Given the description of an element on the screen output the (x, y) to click on. 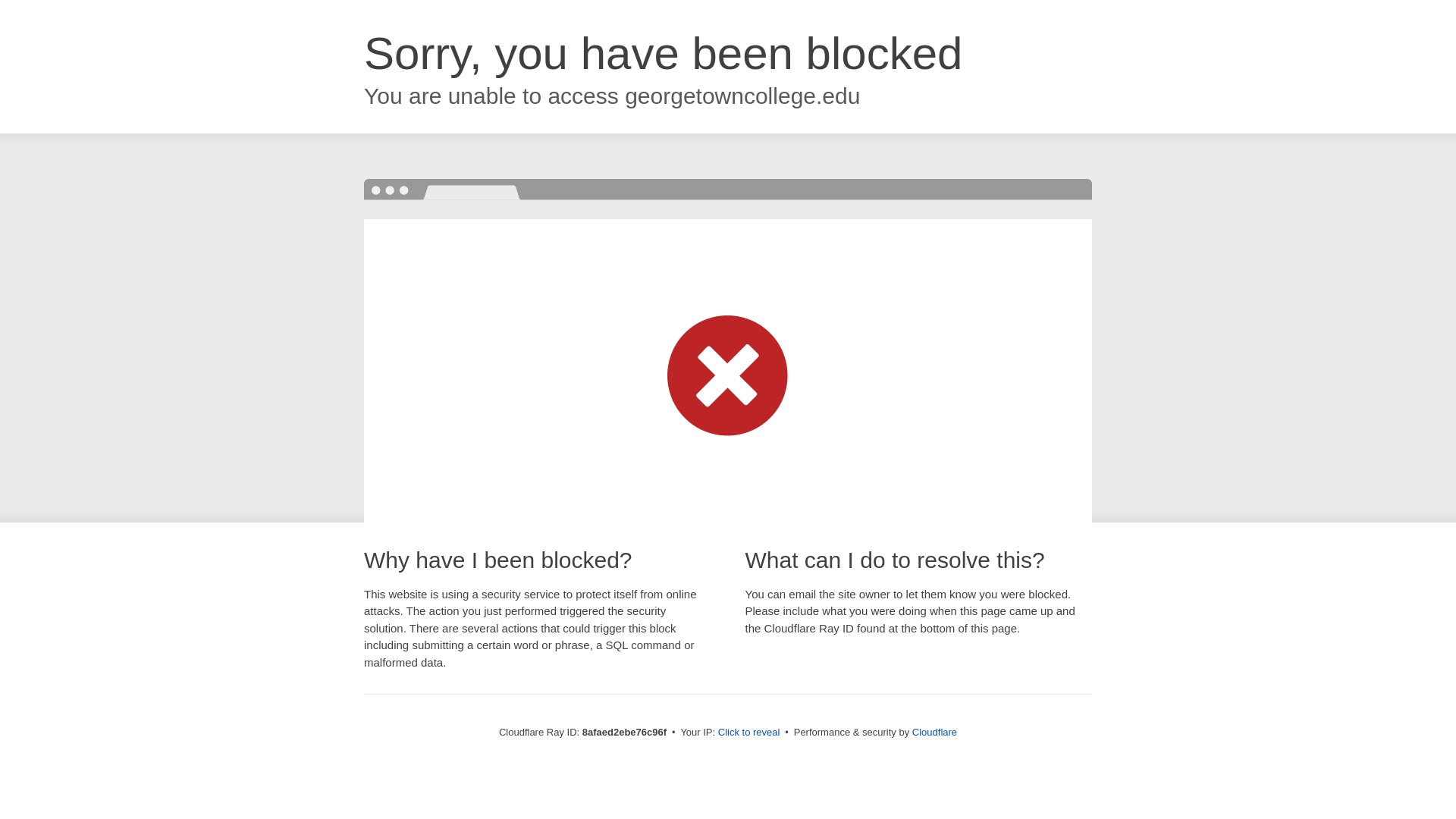
Click to reveal (748, 732)
Cloudflare (934, 731)
